Given the description of an element on the screen output the (x, y) to click on. 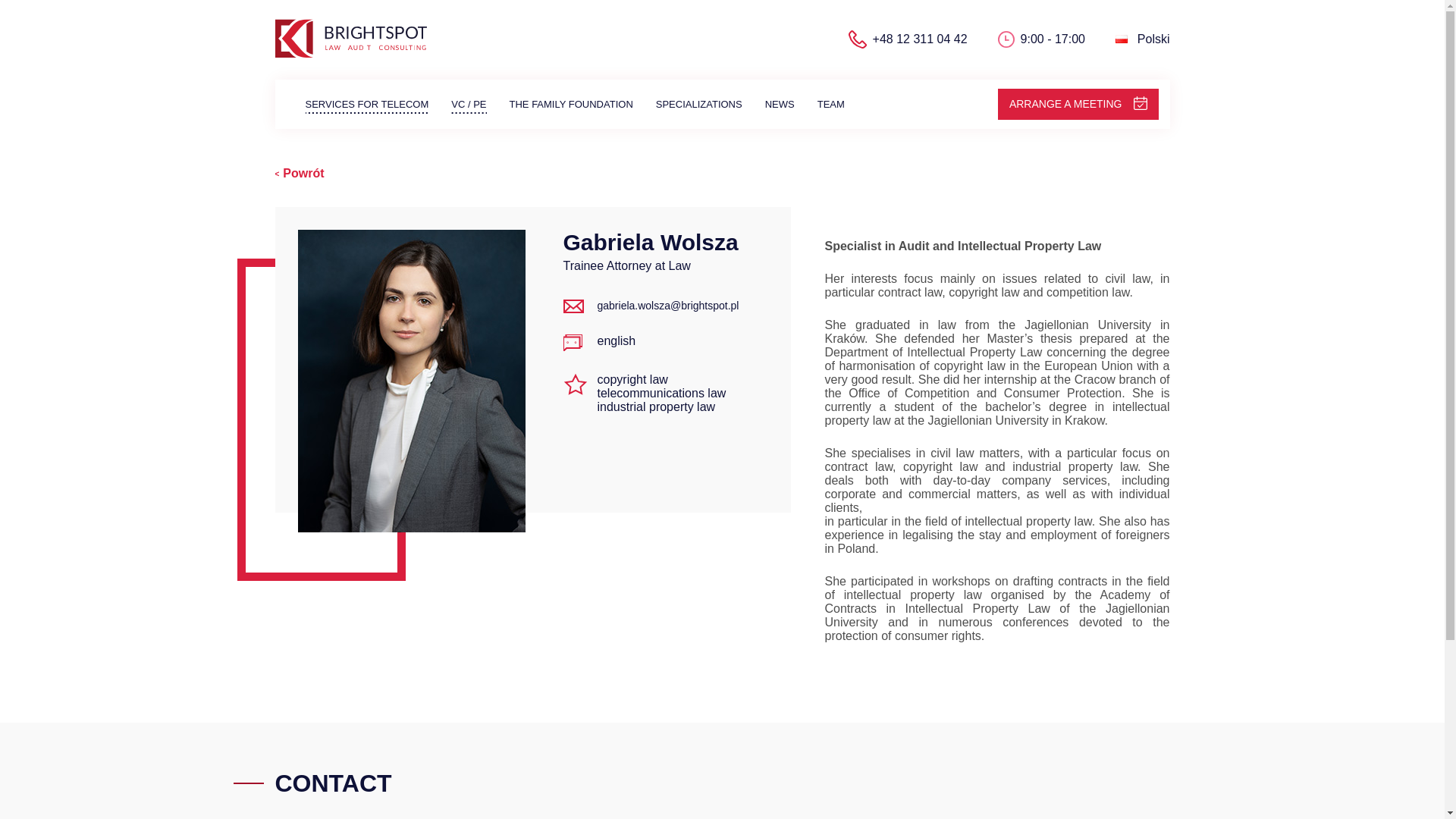
SPECIALIZATIONS (699, 103)
ARRANGE A MEETING (1077, 102)
Polski (1142, 38)
THE FAMILY FOUNDATION (571, 103)
SERVICES FOR TELECOM (366, 103)
NEWS (779, 103)
TEAM (830, 103)
